Given the description of an element on the screen output the (x, y) to click on. 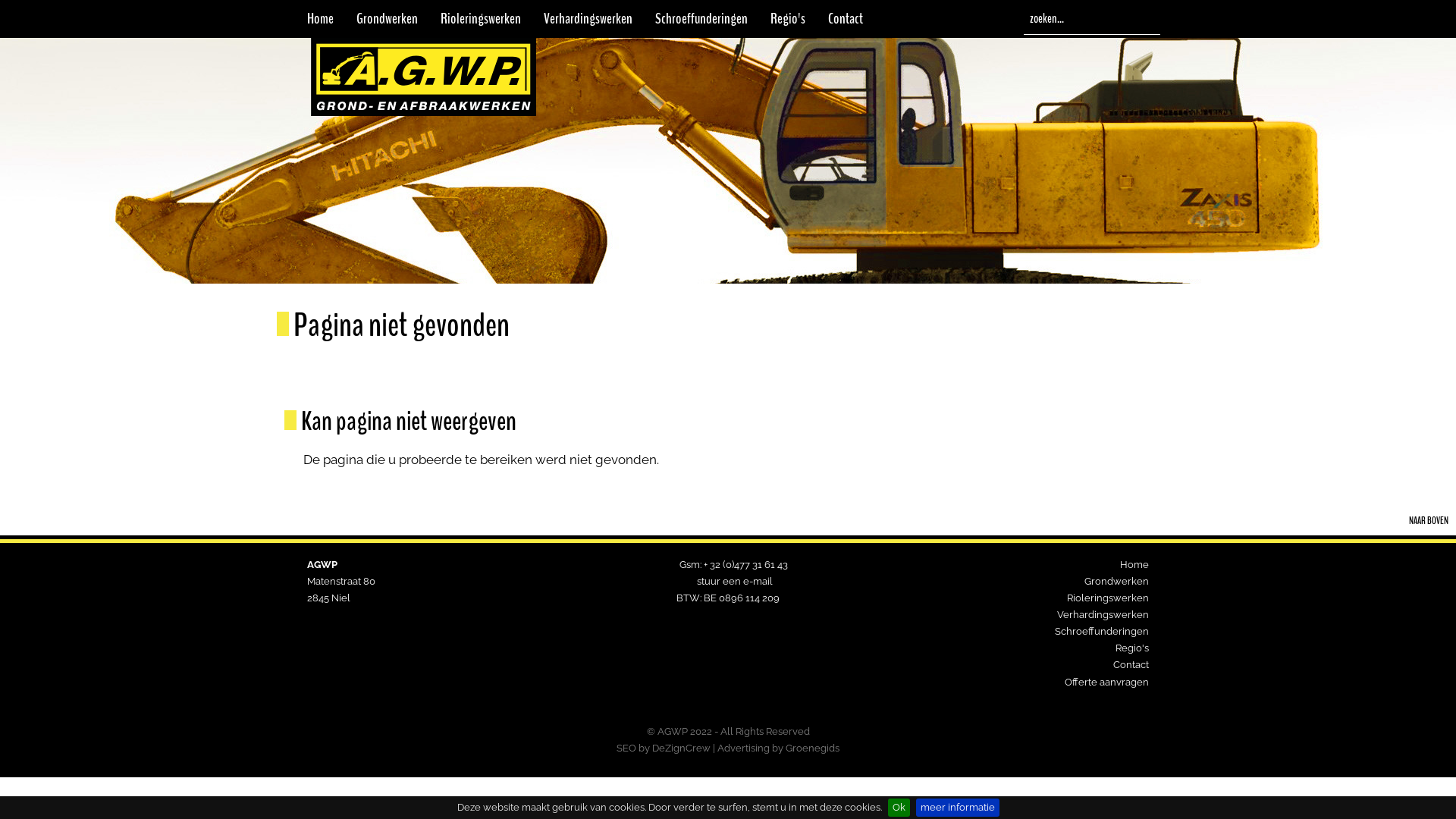
Regio's Element type: text (787, 18)
SEO by DeZignCrew Element type: text (663, 747)
Contact Element type: text (845, 18)
Ok Element type: text (898, 807)
meer informatie Element type: text (957, 807)
Rioleringswerken Element type: text (480, 18)
Grondwerken Element type: text (1116, 580)
Rioleringswerken Element type: text (1107, 597)
Gsm: + 32 (0)477 31 61 43 Element type: text (733, 564)
Home Element type: text (1134, 564)
Verhardingswerken Element type: text (1102, 614)
Verhardingswerken Element type: text (587, 18)
NAAR BOVEN Element type: text (1419, 520)
stuur een e-mail Element type: text (734, 580)
Verzenden Element type: text (1152, 16)
Schroeffunderingen Element type: text (701, 18)
Home Element type: text (320, 18)
Contact Element type: text (1130, 664)
Offerte aanvragen Element type: text (1106, 681)
Grondwerken Element type: text (387, 18)
Schroeffunderingen Element type: text (1101, 631)
Regio's Element type: text (1131, 647)
Advertising by Groenegids Element type: text (778, 747)
